Given the description of an element on the screen output the (x, y) to click on. 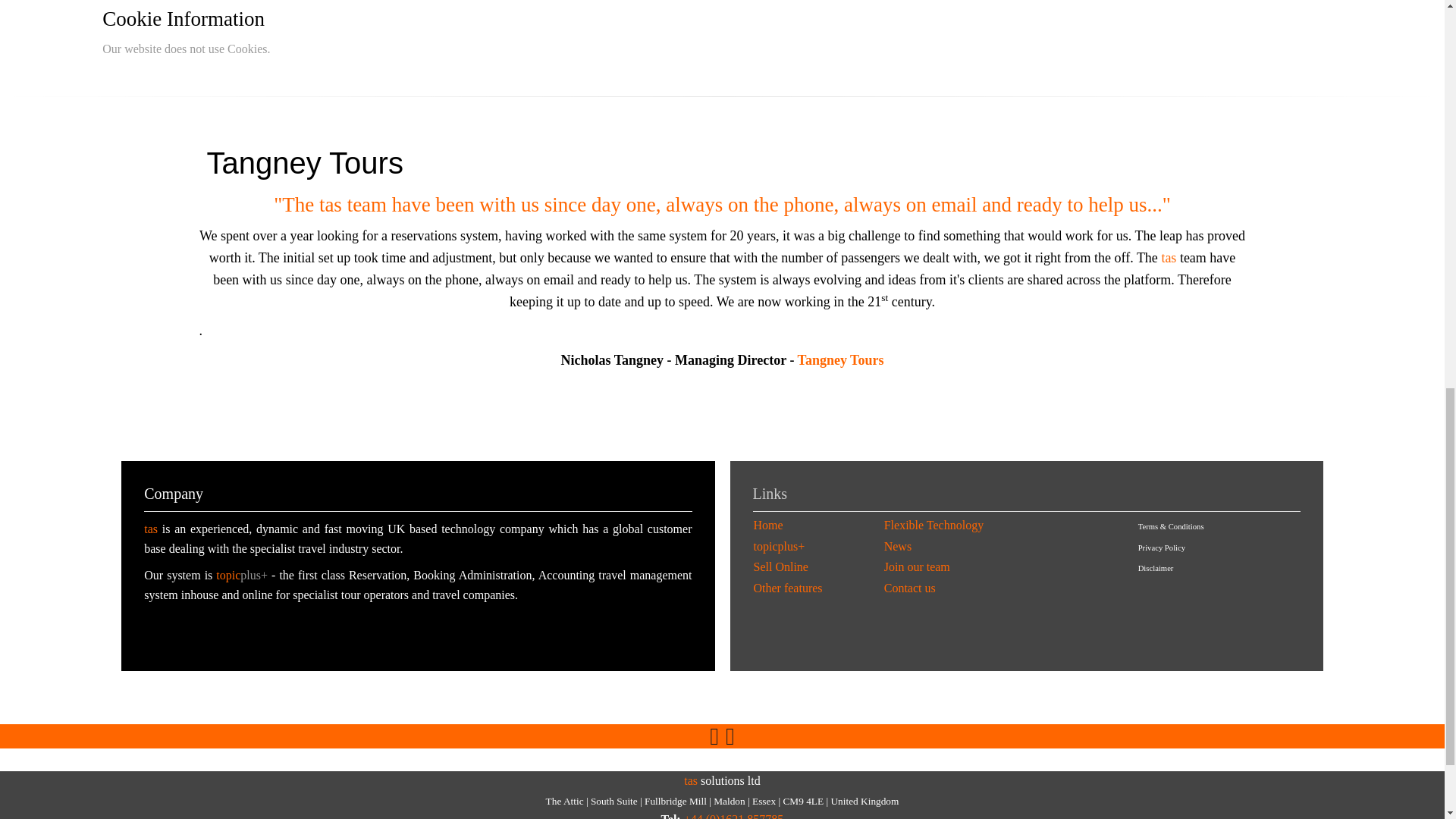
Contact us (909, 587)
Join our team (916, 566)
Other features (788, 587)
News (897, 545)
Tangney Tours (840, 359)
Privacy Policy (1161, 547)
Home (768, 524)
Flexible Technology (933, 524)
Disclaimer (1155, 568)
Sell Online (781, 566)
